Given the description of an element on the screen output the (x, y) to click on. 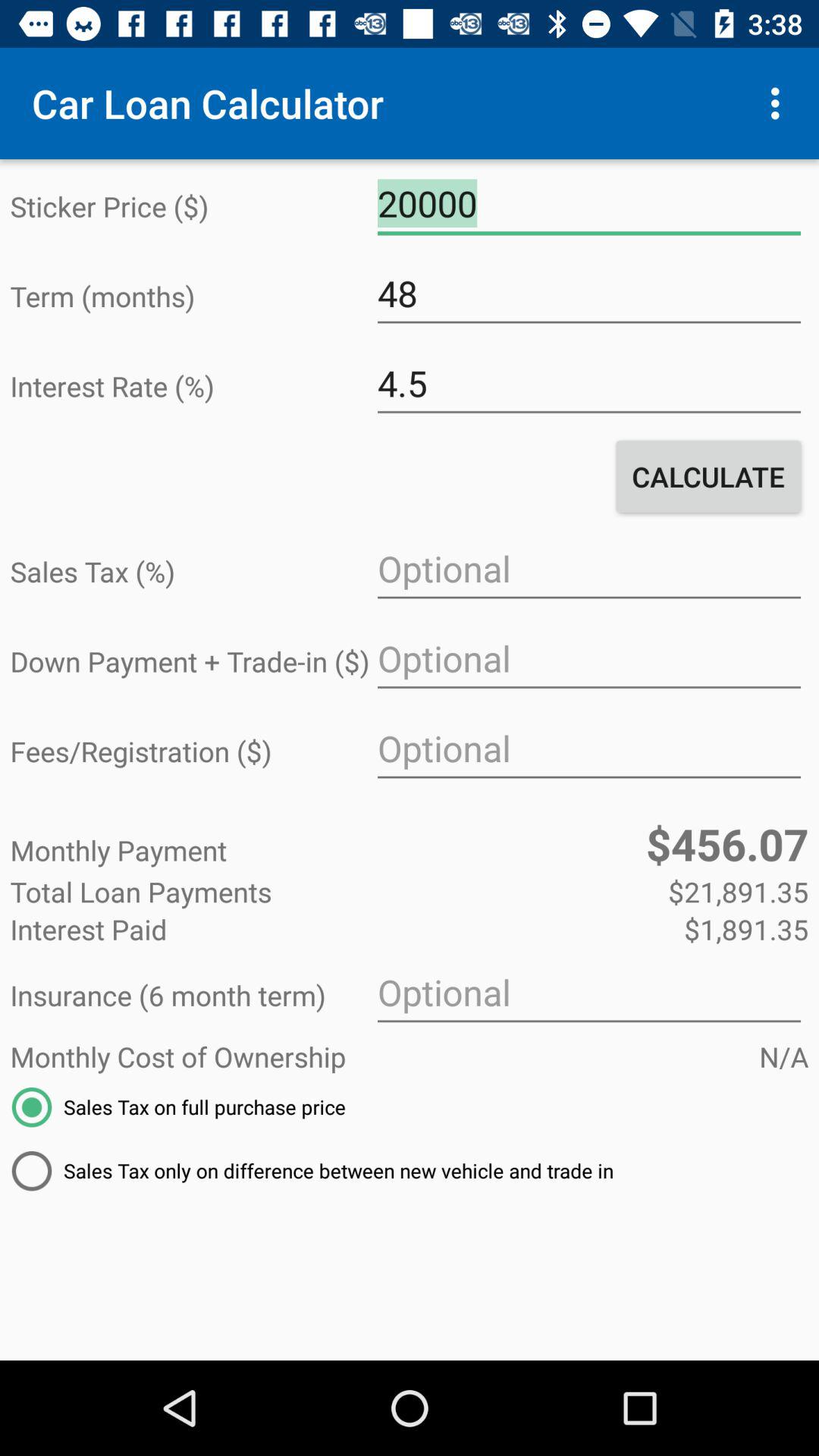
enter down payment and trade-in value (588, 659)
